Given the description of an element on the screen output the (x, y) to click on. 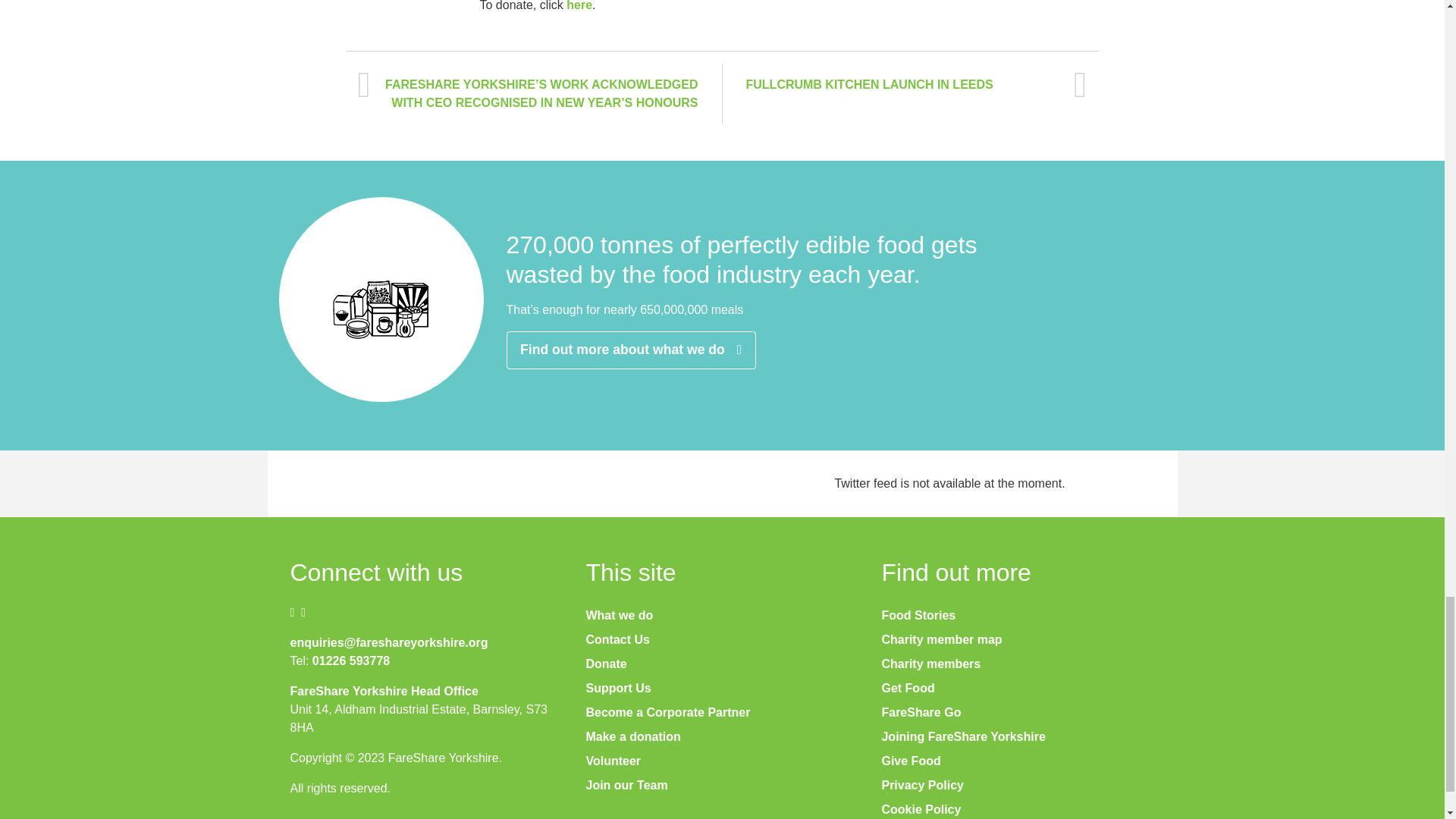
here (579, 5)
